Given the description of an element on the screen output the (x, y) to click on. 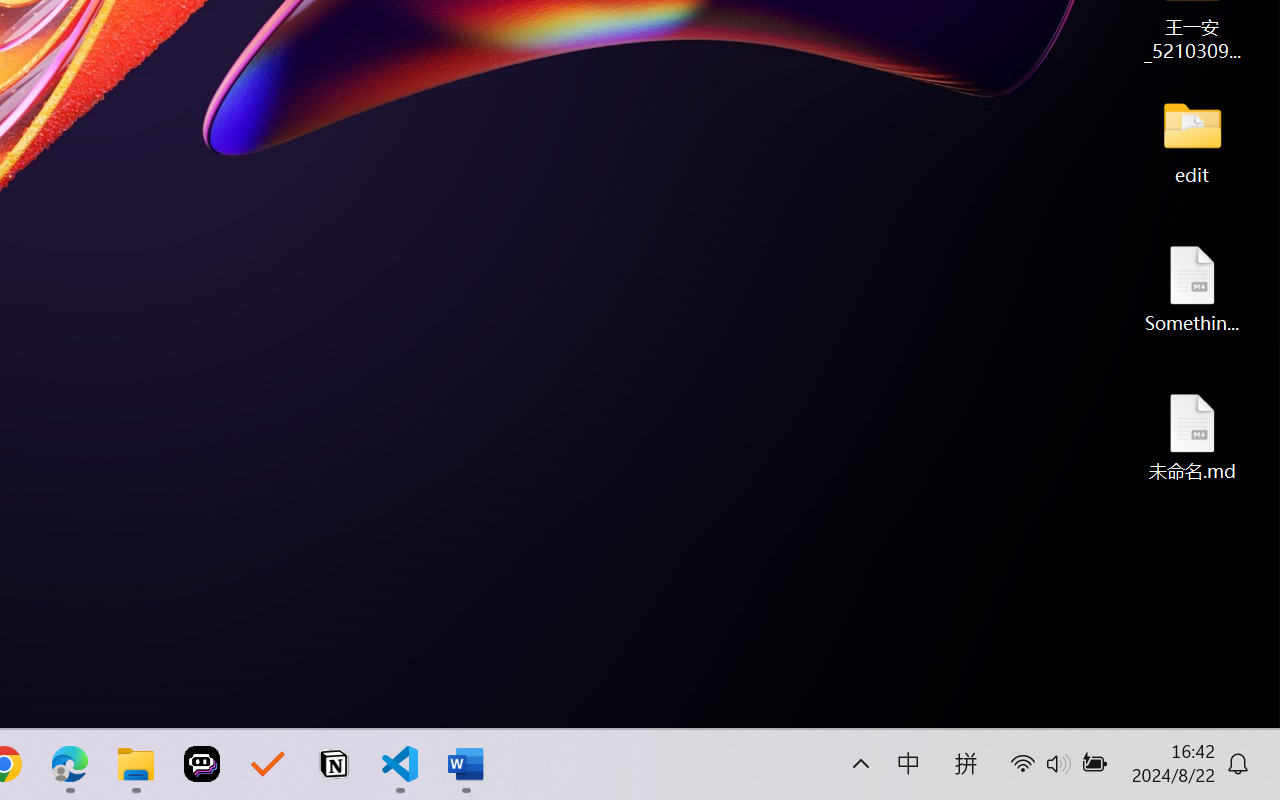
Something.md (1192, 288)
edit (1192, 140)
